Given the description of an element on the screen output the (x, y) to click on. 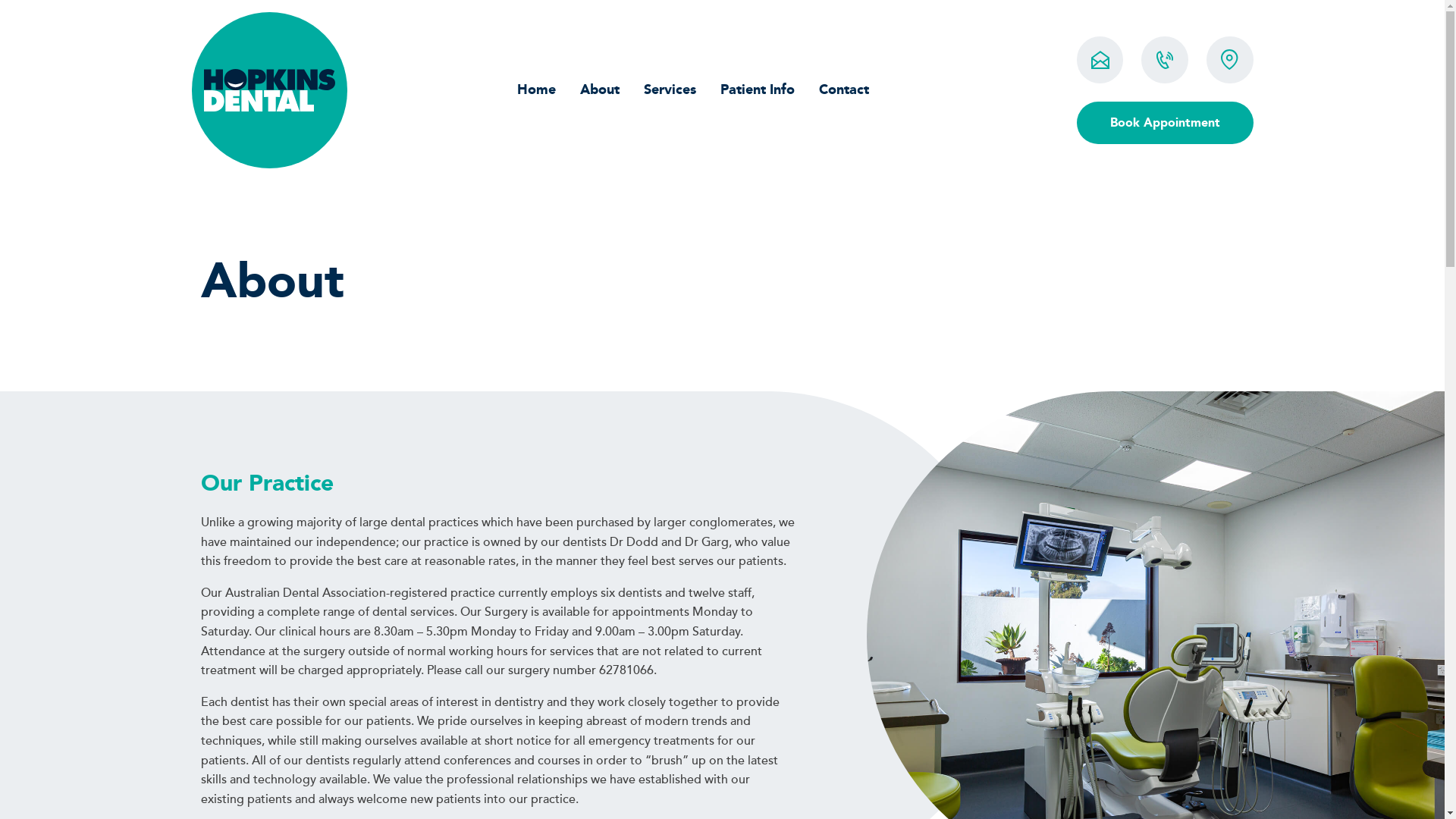
Services Element type: text (669, 89)
Contact Element type: text (844, 89)
Book Appointment Element type: text (1164, 122)
Patient Info Element type: text (757, 89)
About Element type: text (599, 89)
Home Element type: text (536, 89)
